Given the description of an element on the screen output the (x, y) to click on. 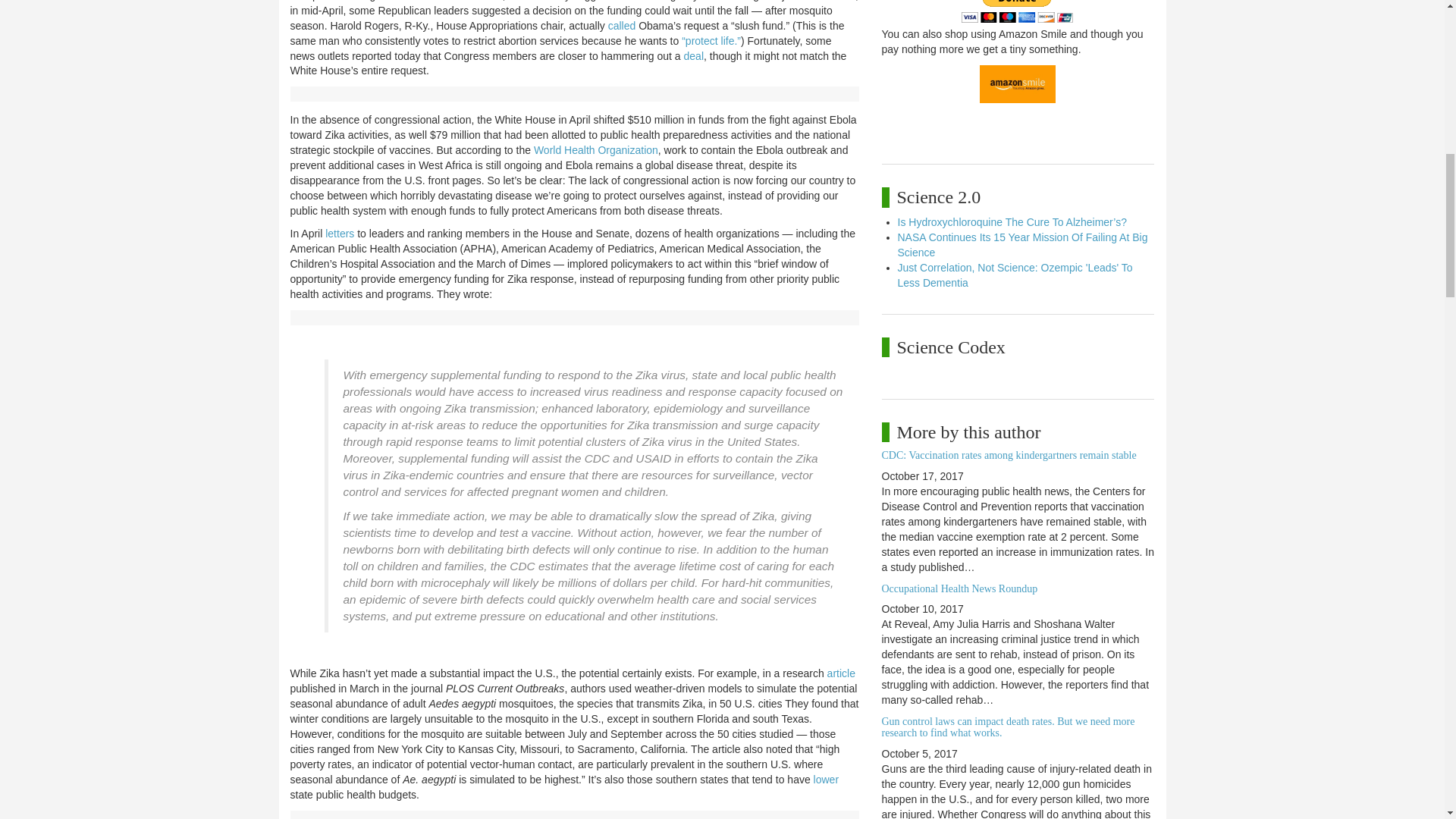
letters (338, 233)
lower (825, 779)
World Health Organization (596, 150)
PayPal - The safer, easier way to pay online! (1016, 11)
called (622, 25)
deal (693, 55)
article (841, 673)
